Given the description of an element on the screen output the (x, y) to click on. 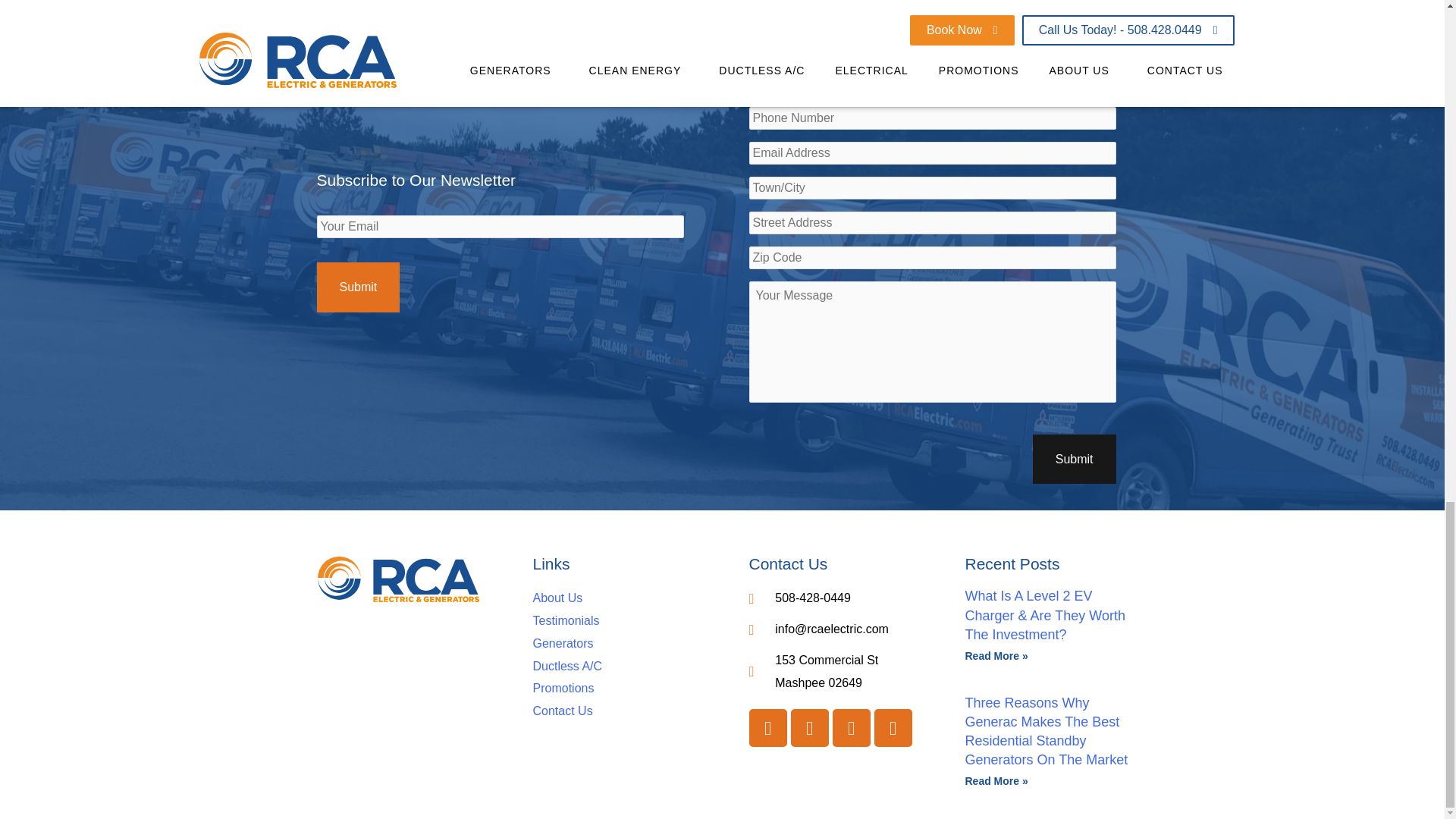
Submit (1074, 459)
Submit (358, 287)
